Given the description of an element on the screen output the (x, y) to click on. 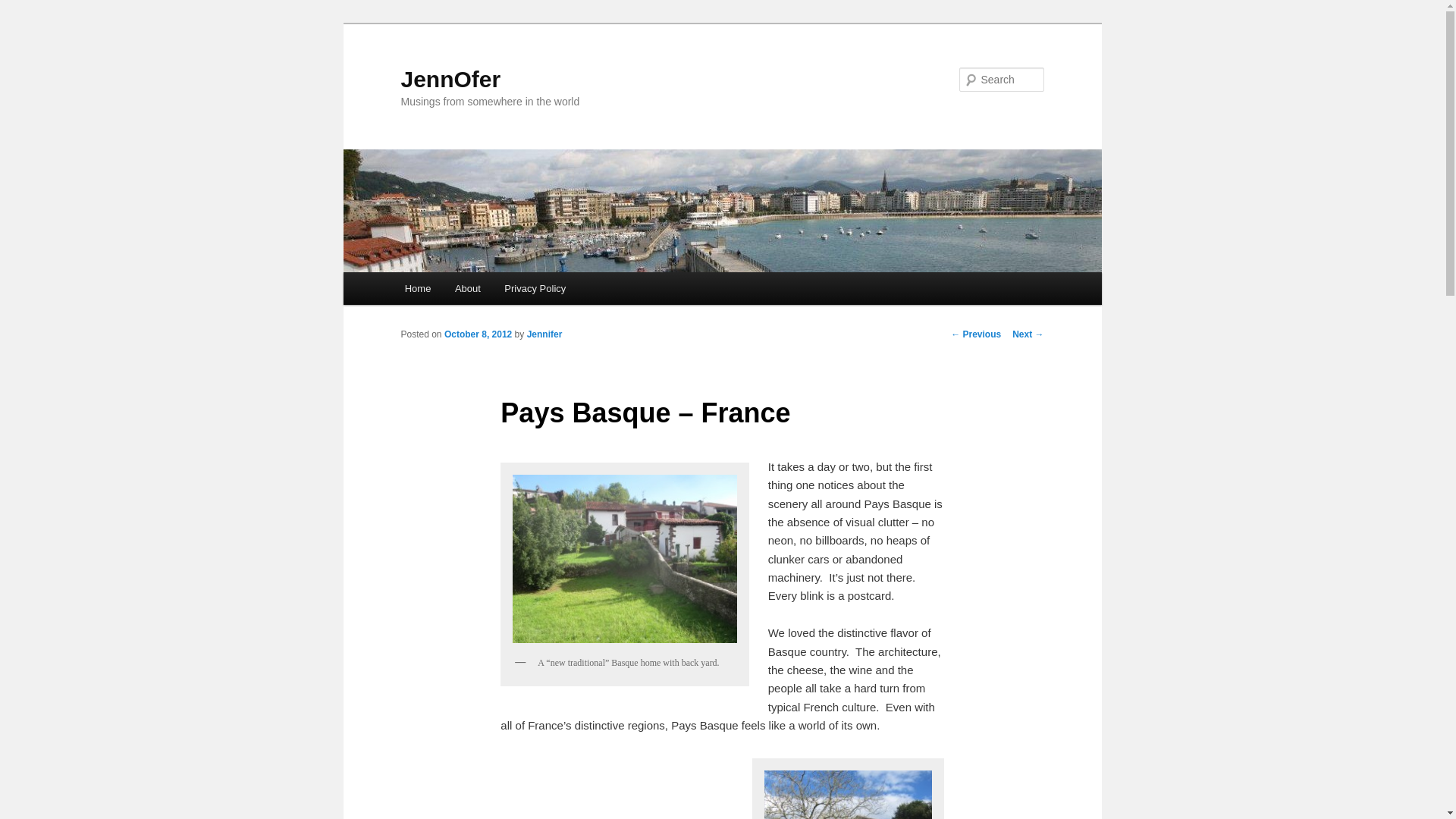
View all posts by Jennifer (544, 334)
Jennifer (544, 334)
Privacy Policy (535, 287)
JennOfer (450, 78)
Search (24, 8)
About (467, 287)
9:04 pm (478, 334)
Home (417, 287)
October 8, 2012 (478, 334)
